Given the description of an element on the screen output the (x, y) to click on. 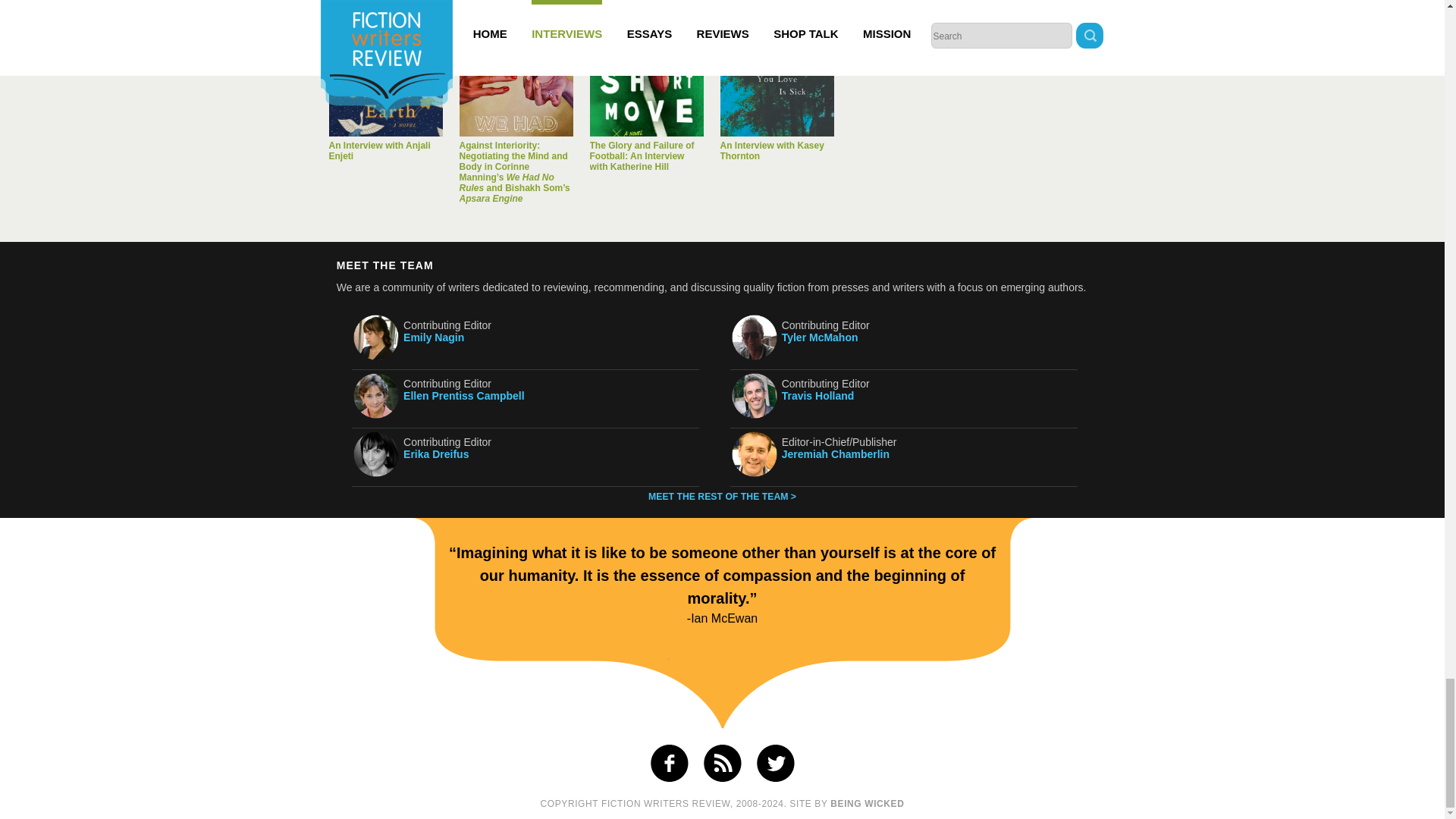
Being Wicked: Creative, Clever, Fun (866, 803)
An Interview with Anjali Enjeti (385, 79)
An Interview with Anjali Enjeti (379, 150)
An Interview with Kasey Thornton (772, 150)
An Interview with Kasey Thornton (777, 79)
